Given the description of an element on the screen output the (x, y) to click on. 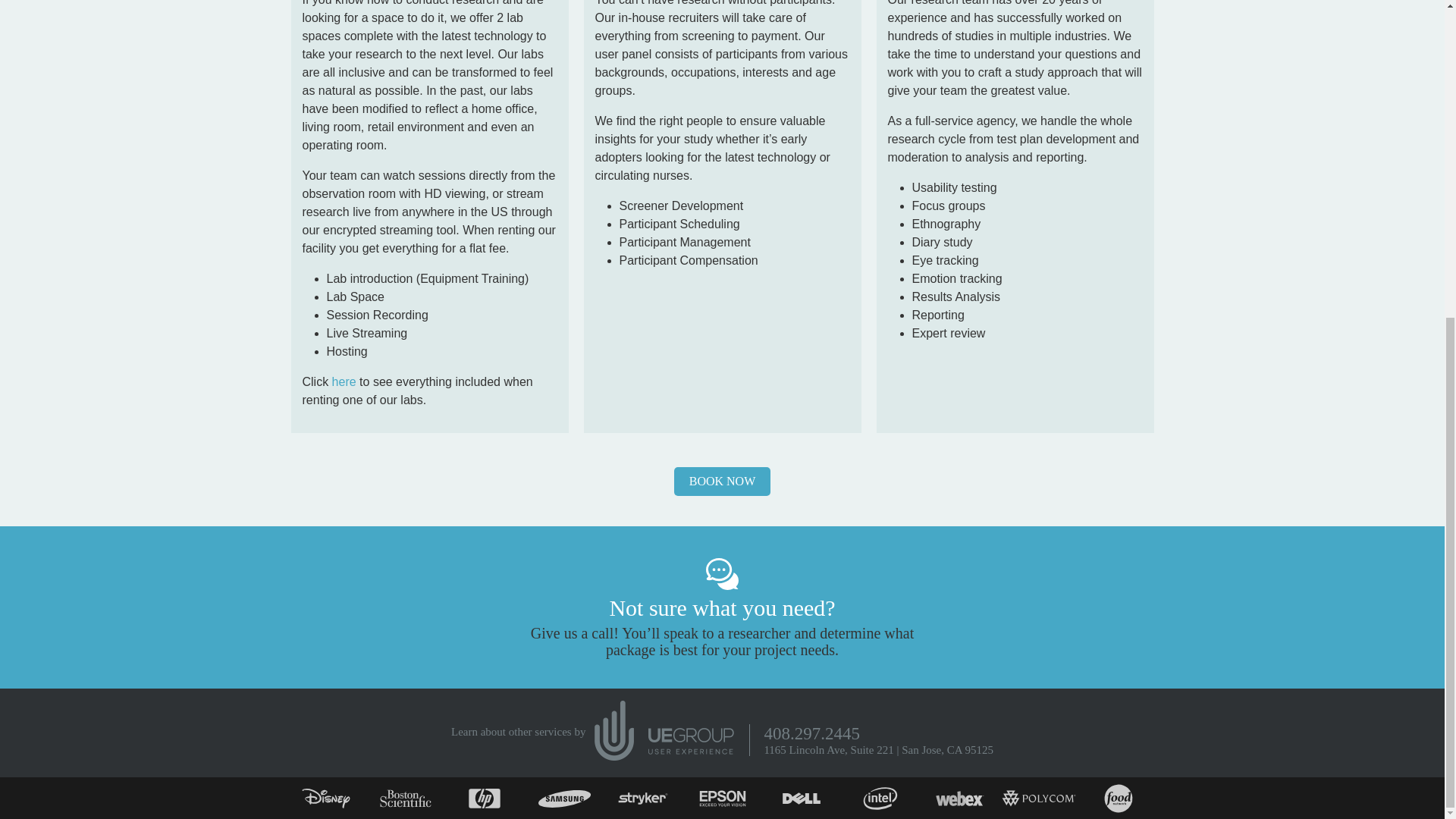
here (343, 381)
408.297.2445 (811, 732)
BOOK NOW (722, 481)
